Given the description of an element on the screen output the (x, y) to click on. 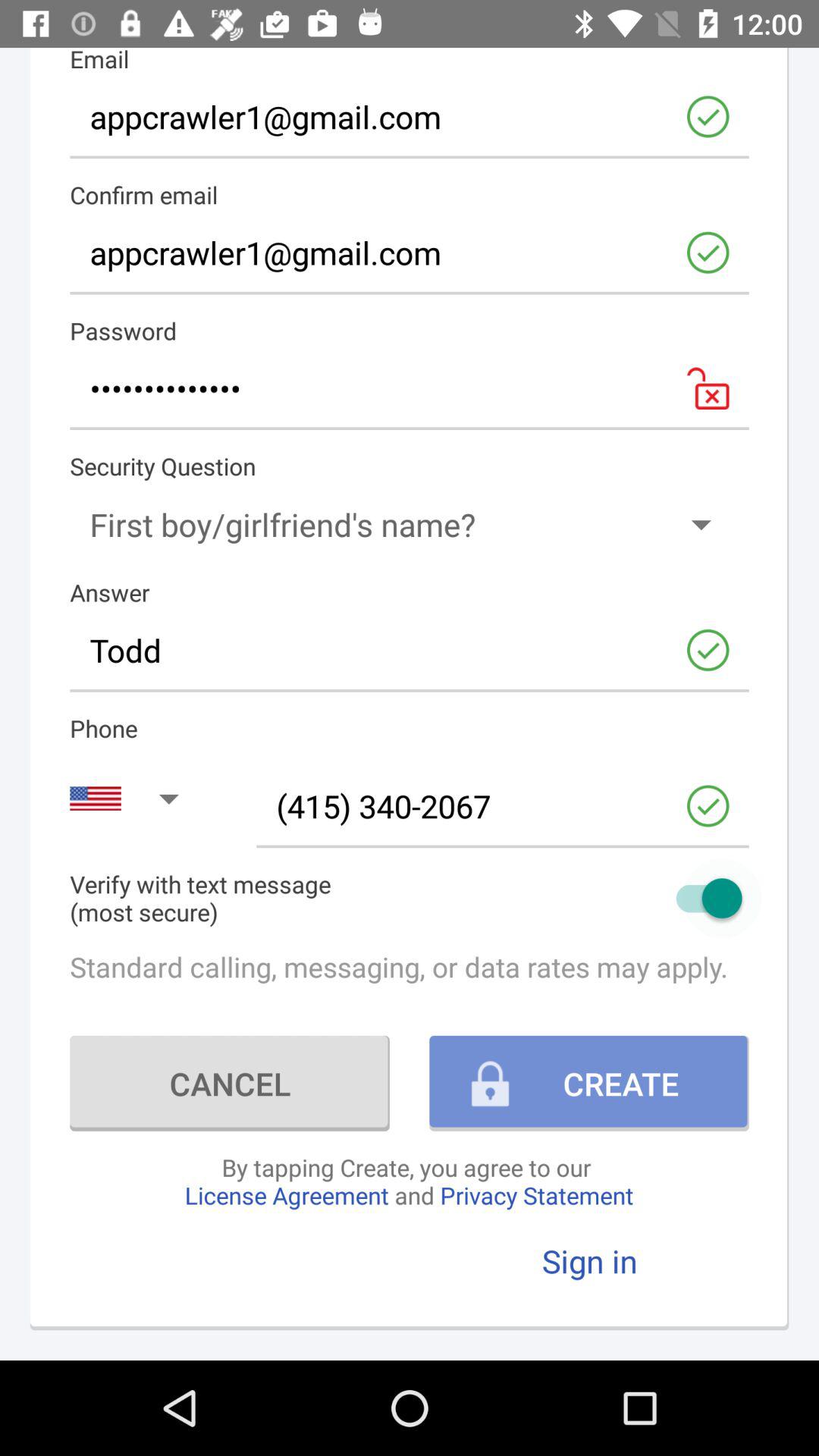
turn on cancel icon (229, 1083)
